Given the description of an element on the screen output the (x, y) to click on. 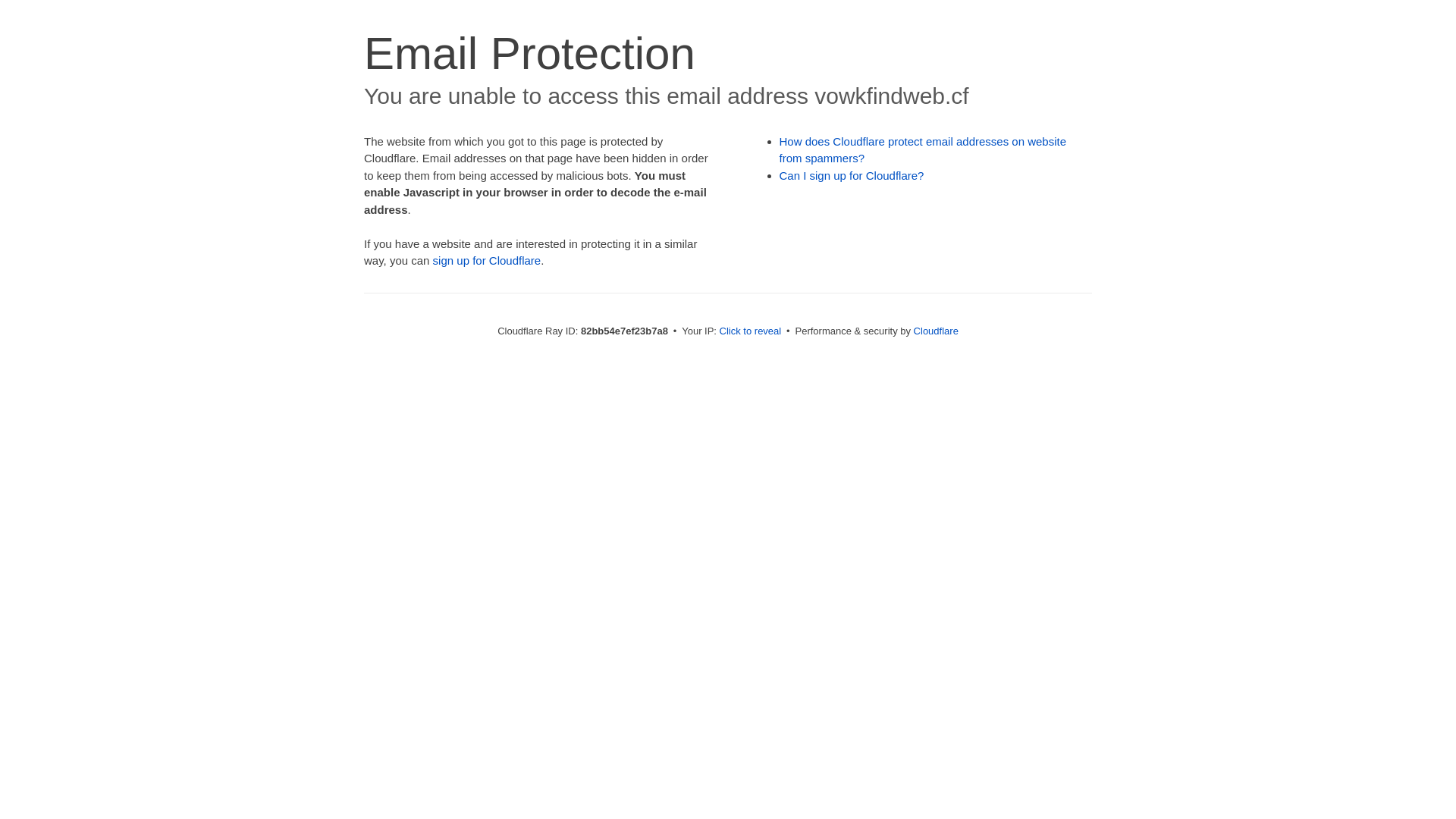
Cloudflare Element type: text (935, 330)
Can I sign up for Cloudflare? Element type: text (851, 175)
sign up for Cloudflare Element type: text (487, 260)
Click to reveal Element type: text (750, 330)
